Given the description of an element on the screen output the (x, y) to click on. 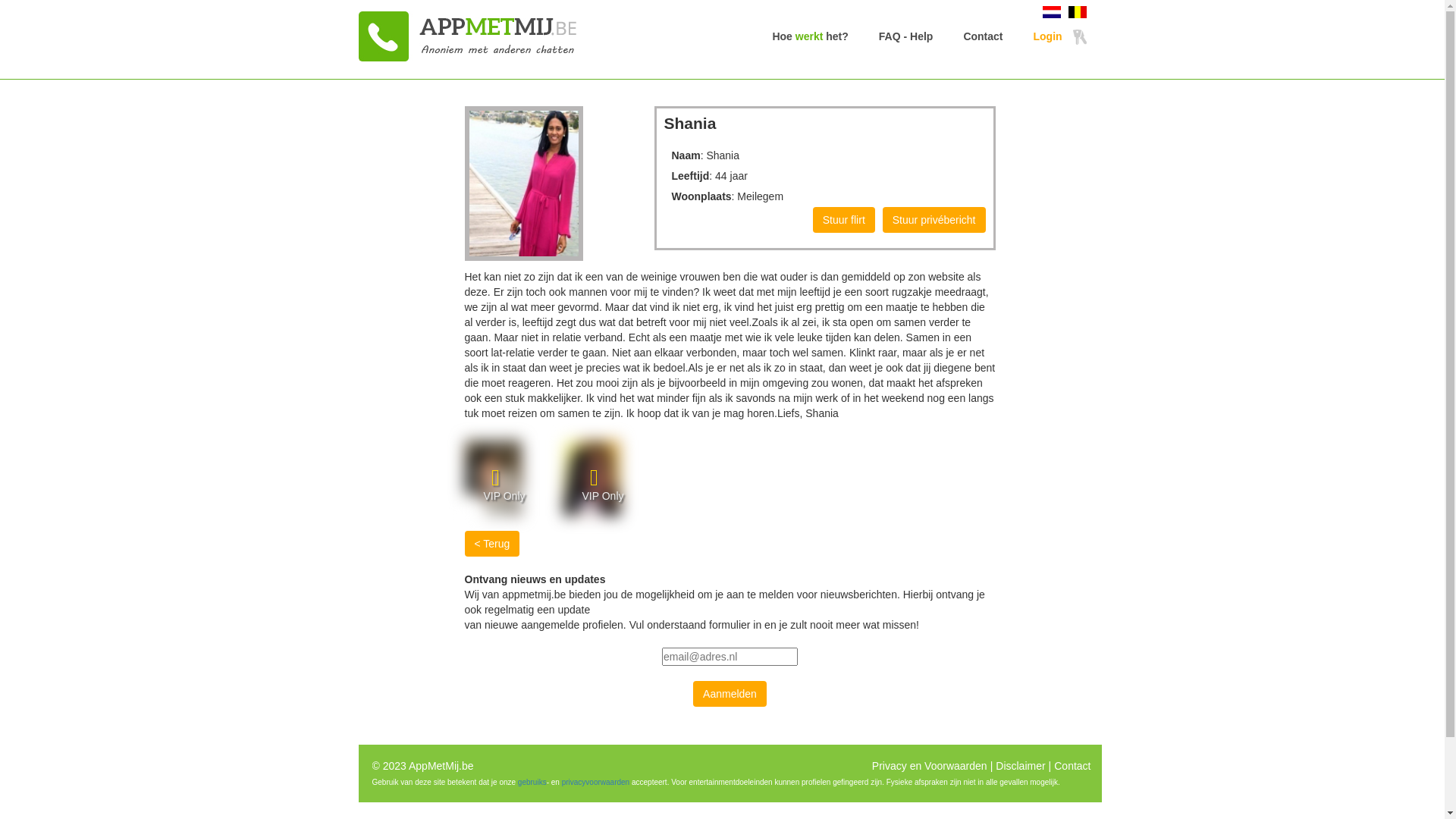
Disclaimer Element type: text (1019, 765)
Shania Element type: hover (590, 477)
Aanmelden Element type: text (729, 693)
< Terug Element type: text (491, 543)
Hoe werkt het? Element type: text (809, 36)
FAQ - Help Element type: text (905, 36)
privacyvoorwaarden Element type: text (595, 782)
Appmetmij.be Element type: text (501, 36)
Shania Element type: hover (492, 477)
gebruiks Element type: text (531, 782)
Shania Element type: hover (523, 183)
Privacy en Voorwaarden Element type: text (929, 765)
Stuur flirt Element type: text (843, 219)
Contact Element type: text (1072, 765)
Login Element type: text (1058, 36)
Contact Element type: text (982, 36)
